Given the description of an element on the screen output the (x, y) to click on. 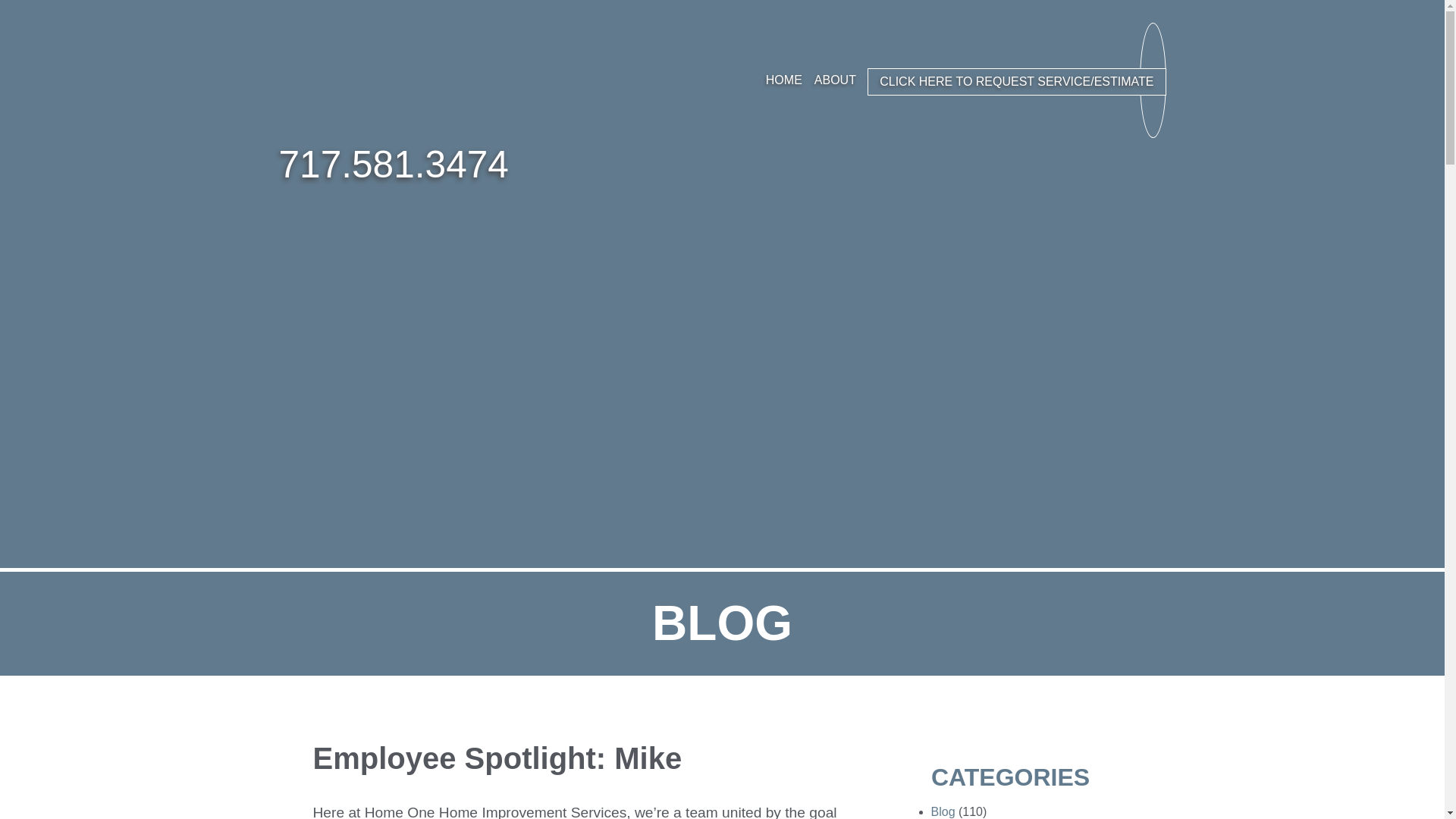
BLOG (1034, 80)
CONTACT (1092, 80)
PROJECTS (973, 80)
Blog (943, 811)
HOME (784, 80)
ABOUT (834, 80)
SERVICES (898, 80)
717.581.3474 (393, 164)
